Given the description of an element on the screen output the (x, y) to click on. 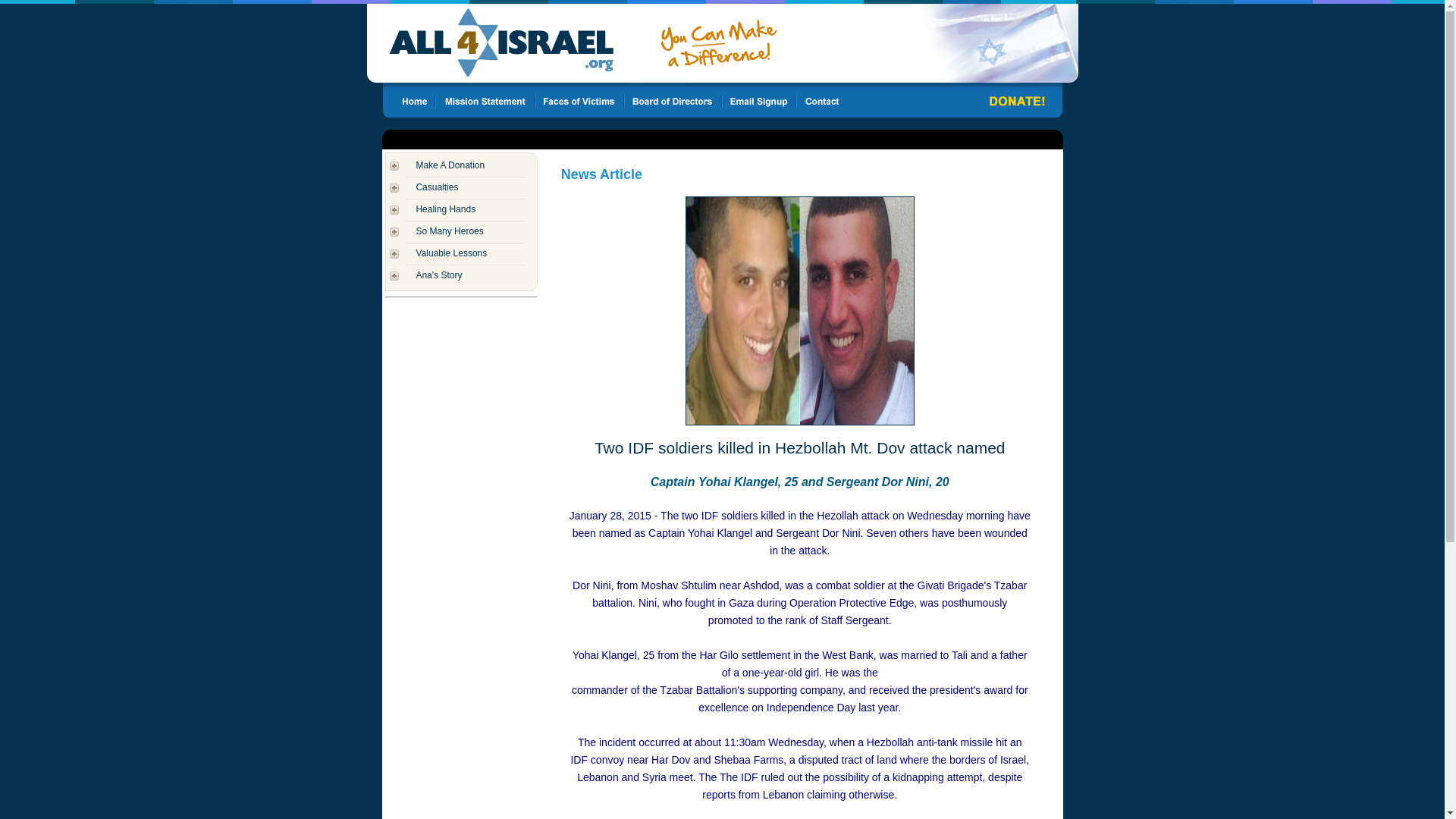
Healing Hands (445, 208)
Ana's Story (437, 275)
Make A Donation (449, 164)
So Many Heroes (448, 231)
Valuable Lessons (450, 253)
Casualties (436, 186)
